Given the description of an element on the screen output the (x, y) to click on. 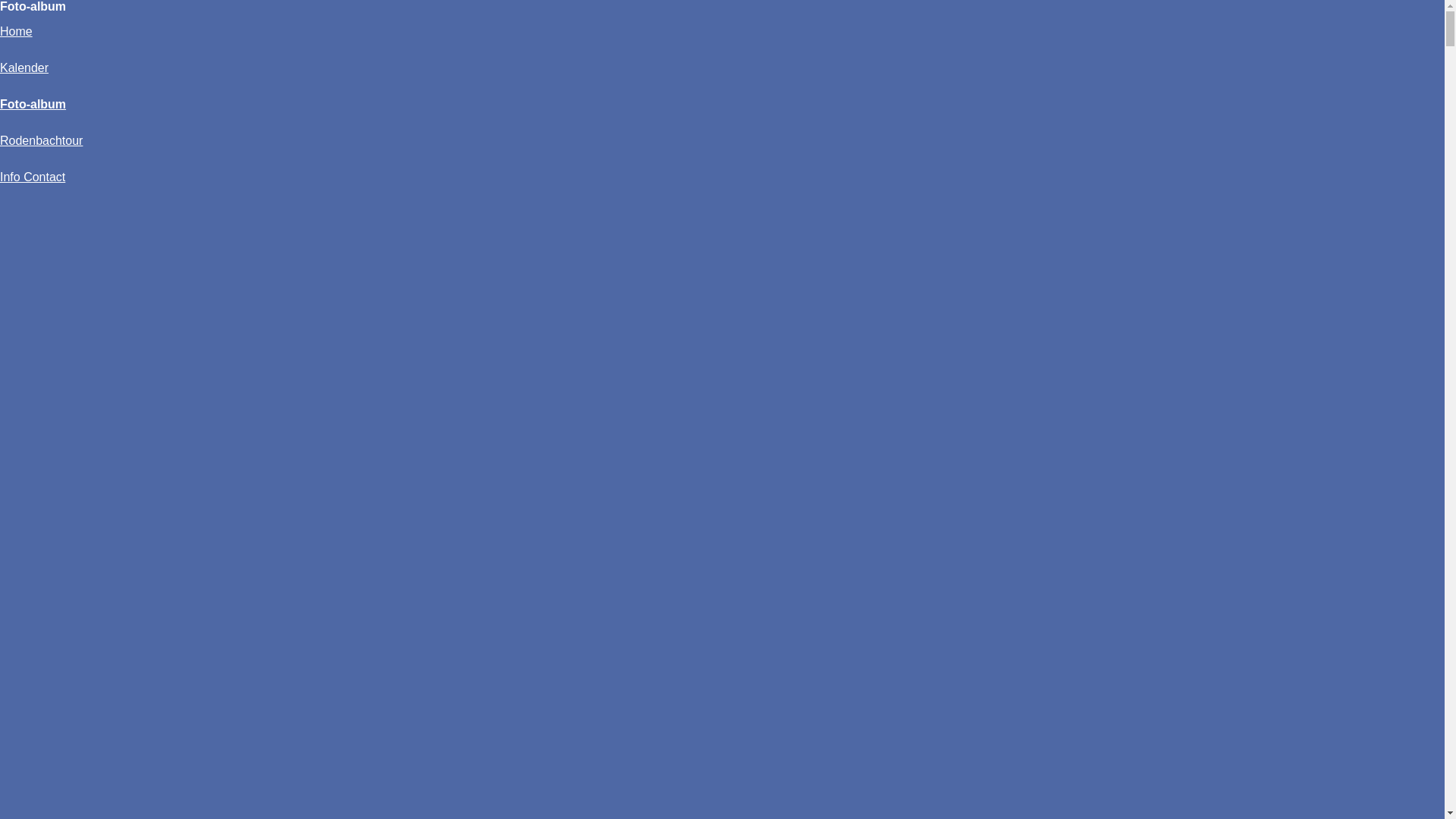
Info Contact Element type: text (32, 176)
Rodenbachtour Element type: text (41, 140)
Home Element type: text (16, 31)
Foto-album Element type: text (32, 103)
Kalender Element type: text (24, 67)
